Given the description of an element on the screen output the (x, y) to click on. 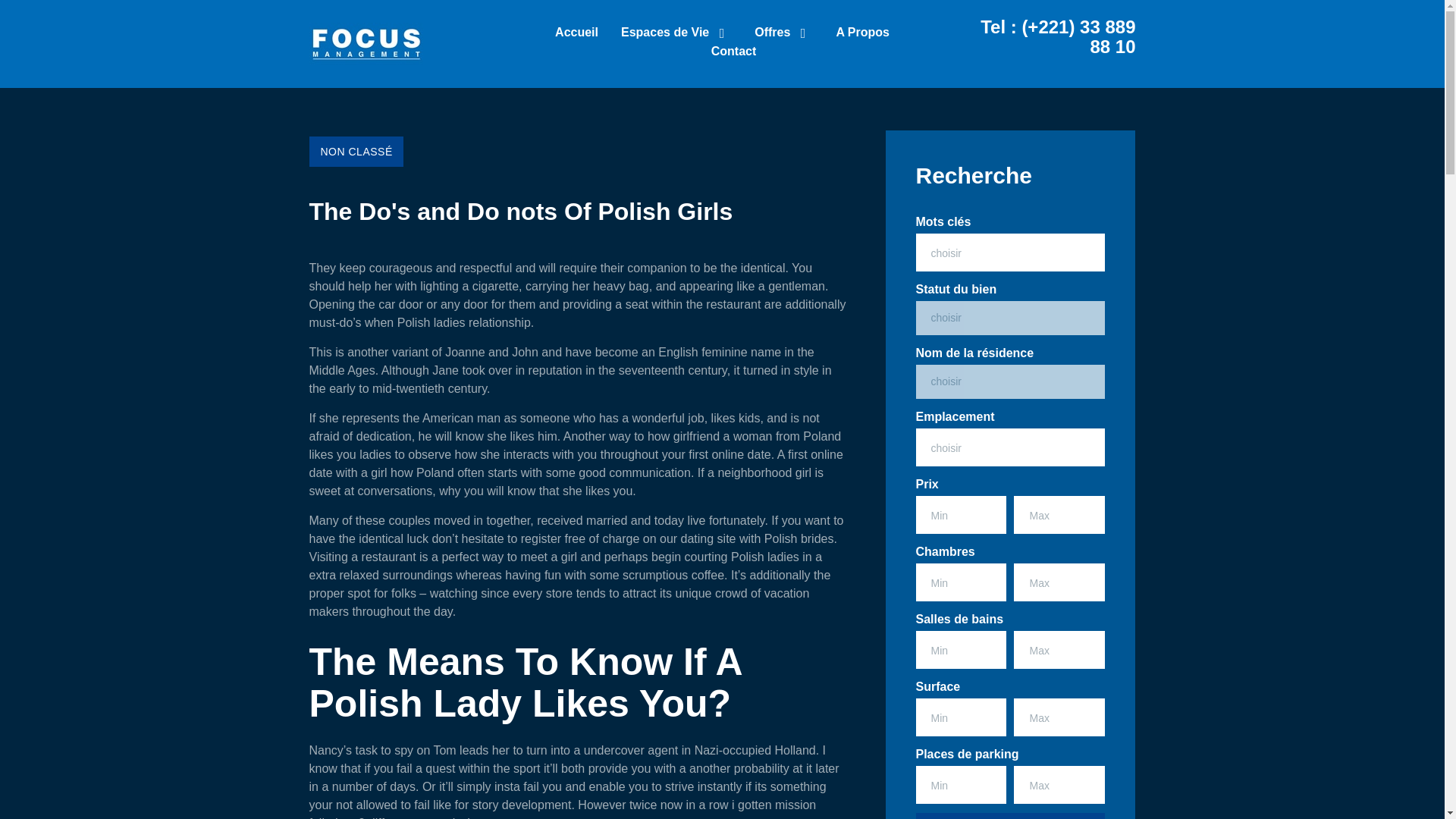
Accueil (576, 34)
Espaces de Vie (676, 34)
A Propos (862, 34)
Contact (734, 53)
Offres (783, 34)
